Given the description of an element on the screen output the (x, y) to click on. 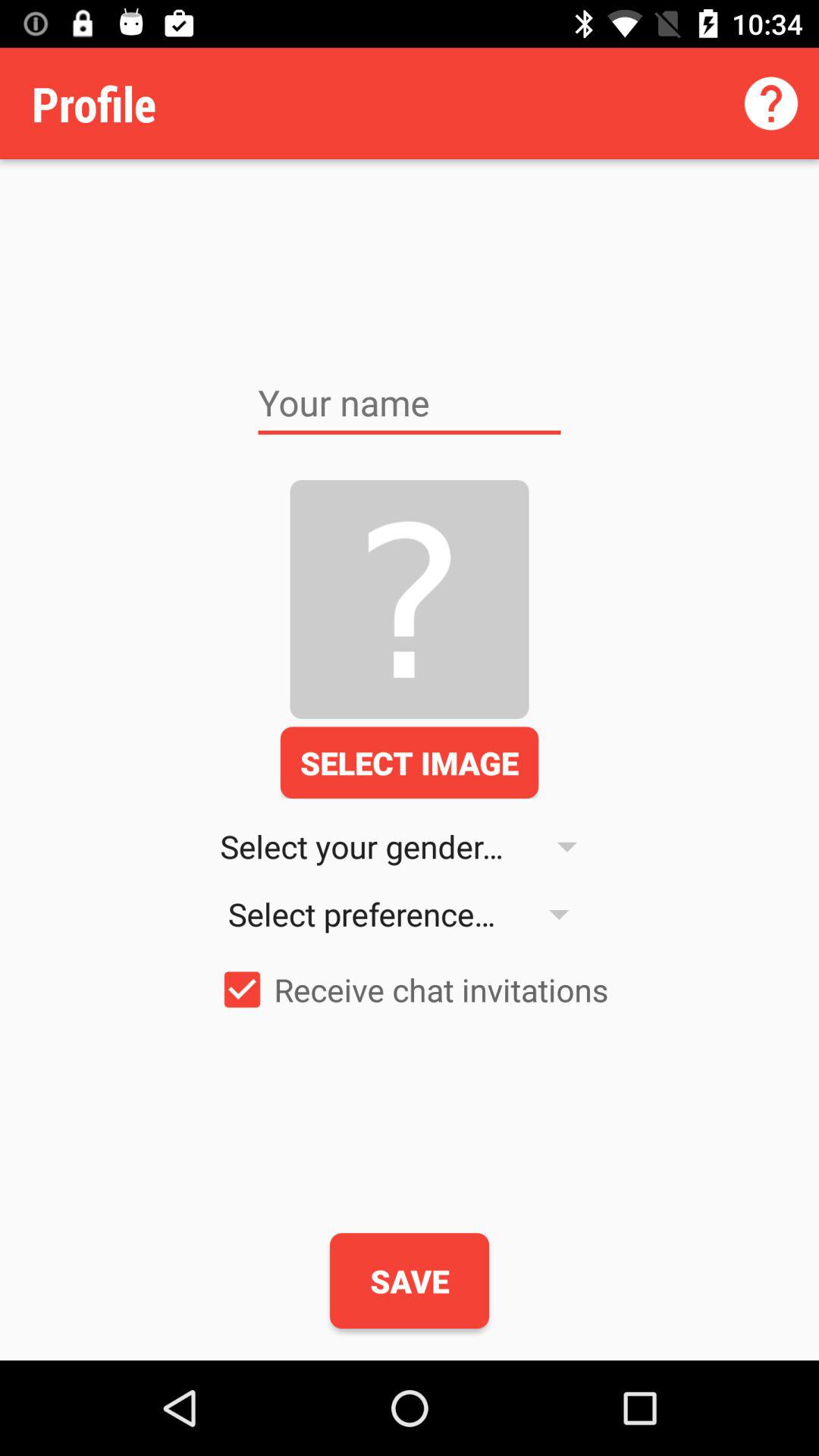
scroll to receive chat invitations (409, 989)
